Given the description of an element on the screen output the (x, y) to click on. 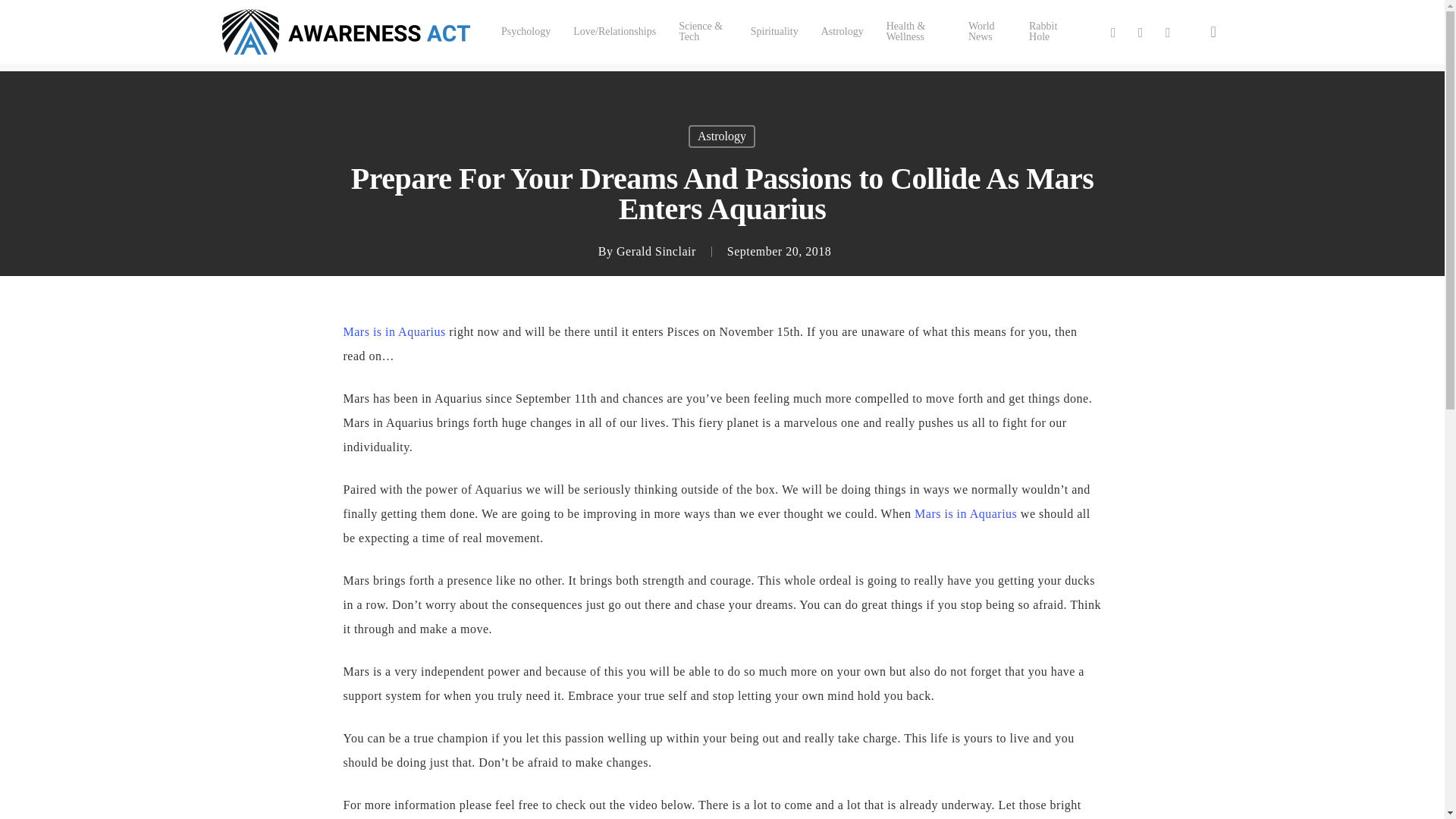
Posts by Gerald Sinclair (655, 250)
Spirituality (774, 31)
Gerald Sinclair (655, 250)
Mars is in Aquarius (965, 513)
Astrology (842, 31)
Instagram (1167, 31)
Mars is in Aquarius (393, 331)
Rabbit Hole (1047, 31)
DMCA (787, 806)
Astrology (721, 136)
